Given the description of an element on the screen output the (x, y) to click on. 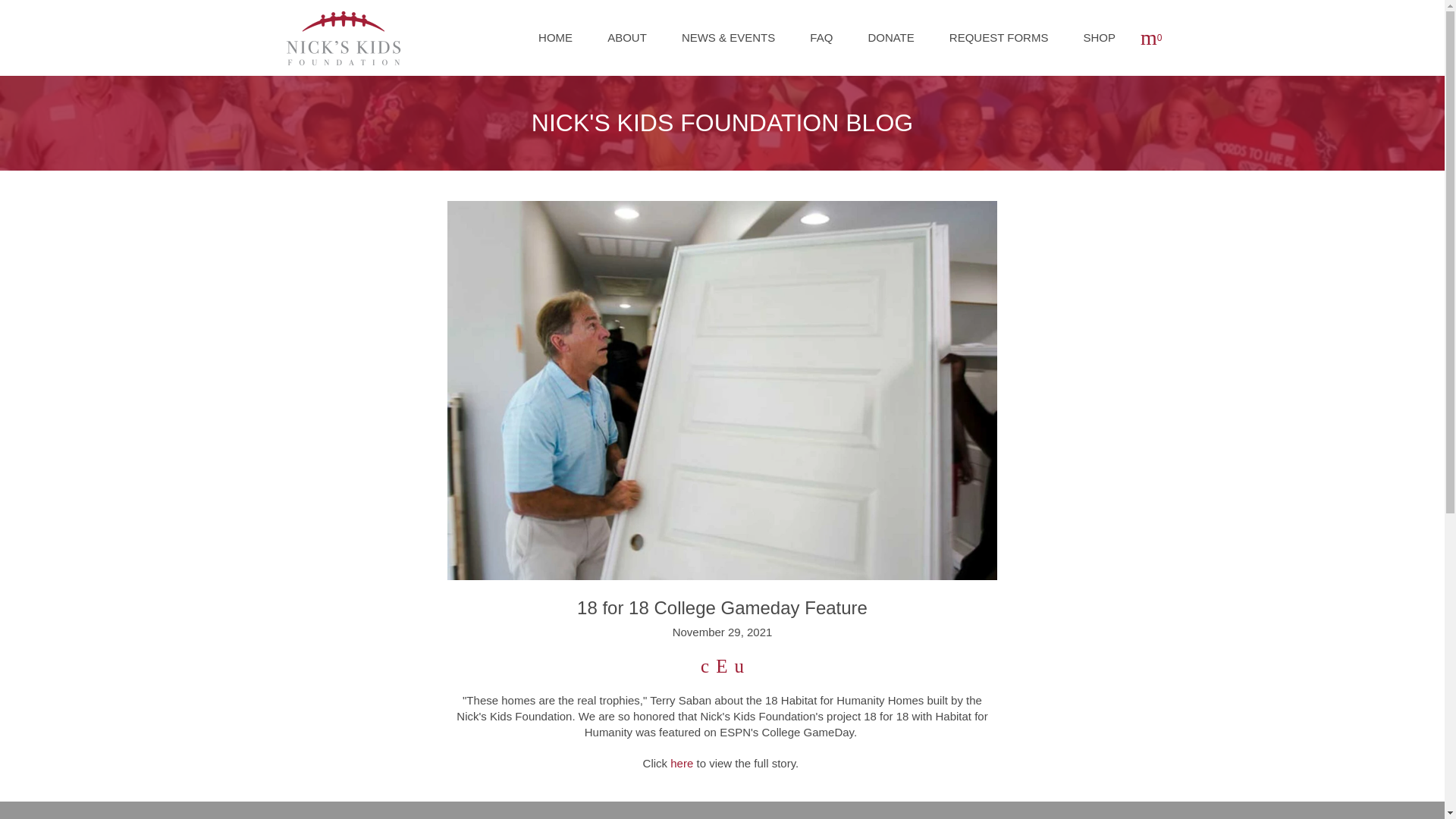
REQUEST FORMS (998, 38)
ABOUT (626, 38)
Home (555, 38)
SHOP (1098, 38)
here (681, 762)
About (626, 38)
DONATE (890, 38)
HOME (555, 38)
Request Forms (998, 38)
Nick's Kids Foundation (342, 38)
Donate (890, 38)
